Given the description of an element on the screen output the (x, y) to click on. 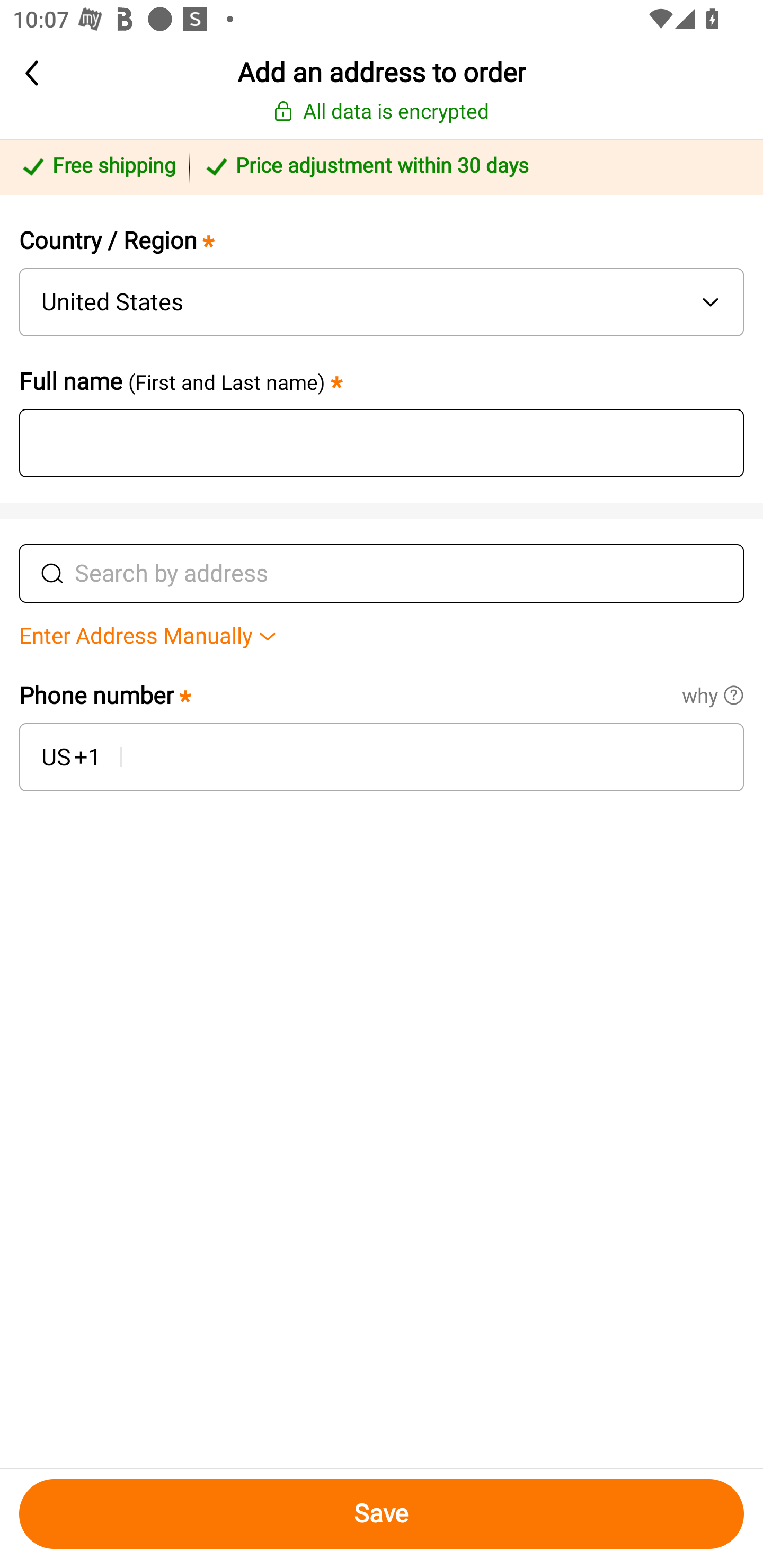
back (63, 72)
Free shipping (97, 167)
Price adjustment within 30 days (472, 167)
accessible_broadcast,region1 United States (381, 302)
accessible_broadcast,name (372, 442)
Search by address (402, 573)
Enter Address Manually  (381, 636)
why  (722, 680)
US +1 (70, 756)
accessible_broadcast,region1 (424, 756)
Save (381, 1513)
